Given the description of an element on the screen output the (x, y) to click on. 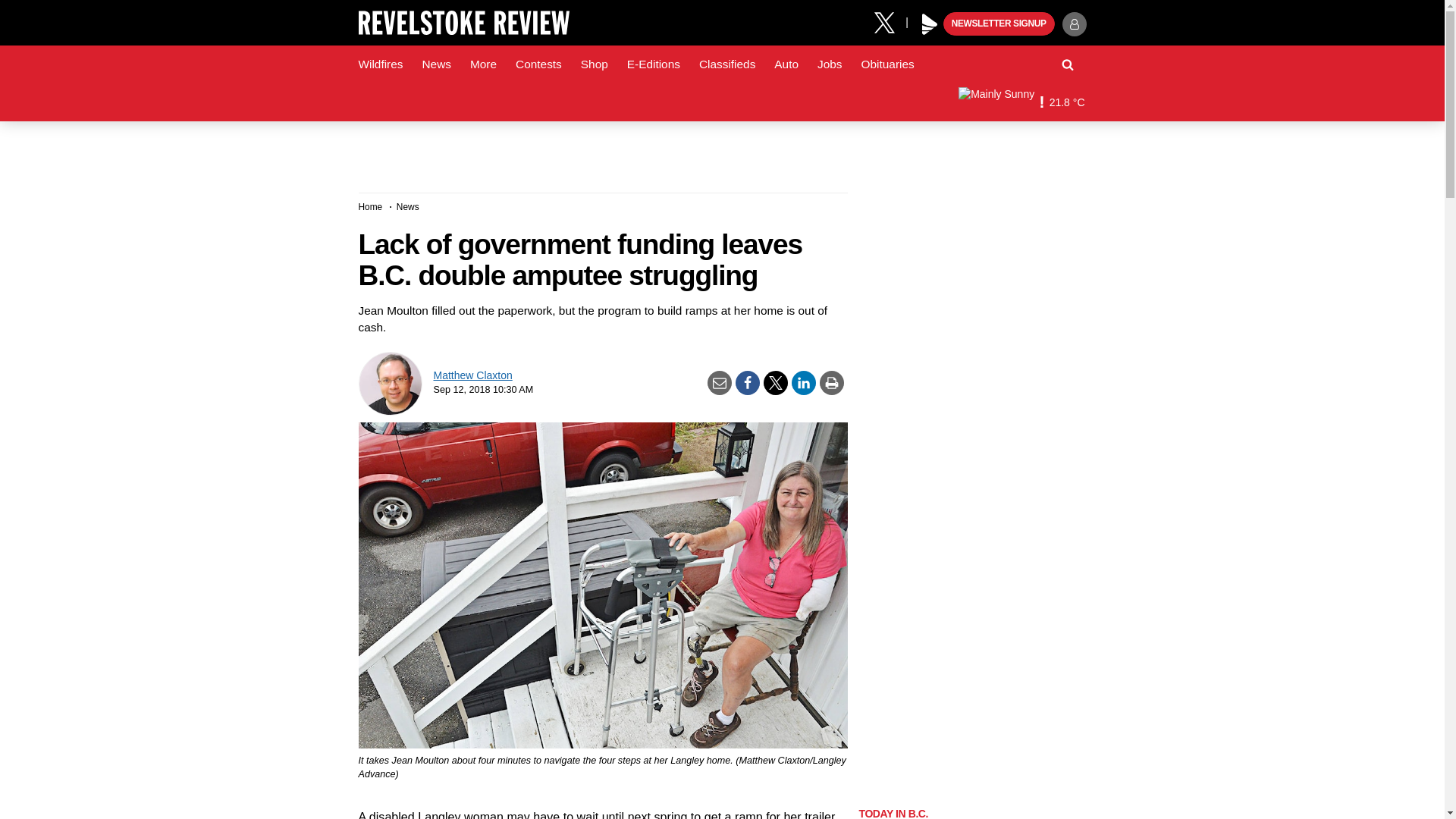
Play (929, 24)
NEWSLETTER SIGNUP (998, 24)
X (889, 21)
News (435, 64)
Black Press Media (929, 24)
Wildfires (380, 64)
